Given the description of an element on the screen output the (x, y) to click on. 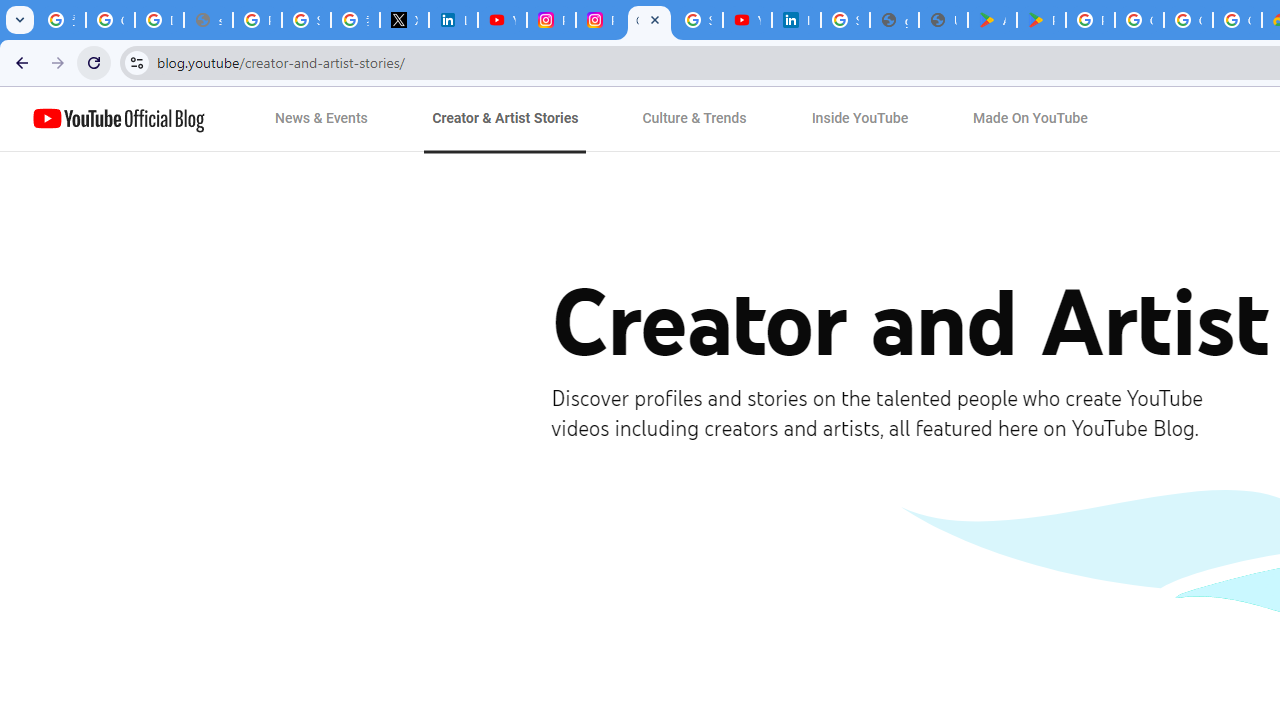
Privacy Help Center - Policies Help (257, 20)
Identity verification via Persona | LinkedIn Help (795, 20)
Google Workspace - Specific Terms (1188, 20)
X (404, 20)
Sign in - Google Accounts (698, 20)
Inside YouTube (859, 119)
YouTube Content Monetization Policies - How YouTube Works (502, 20)
Creator & Artist Stories (505, 119)
